Given the description of an element on the screen output the (x, y) to click on. 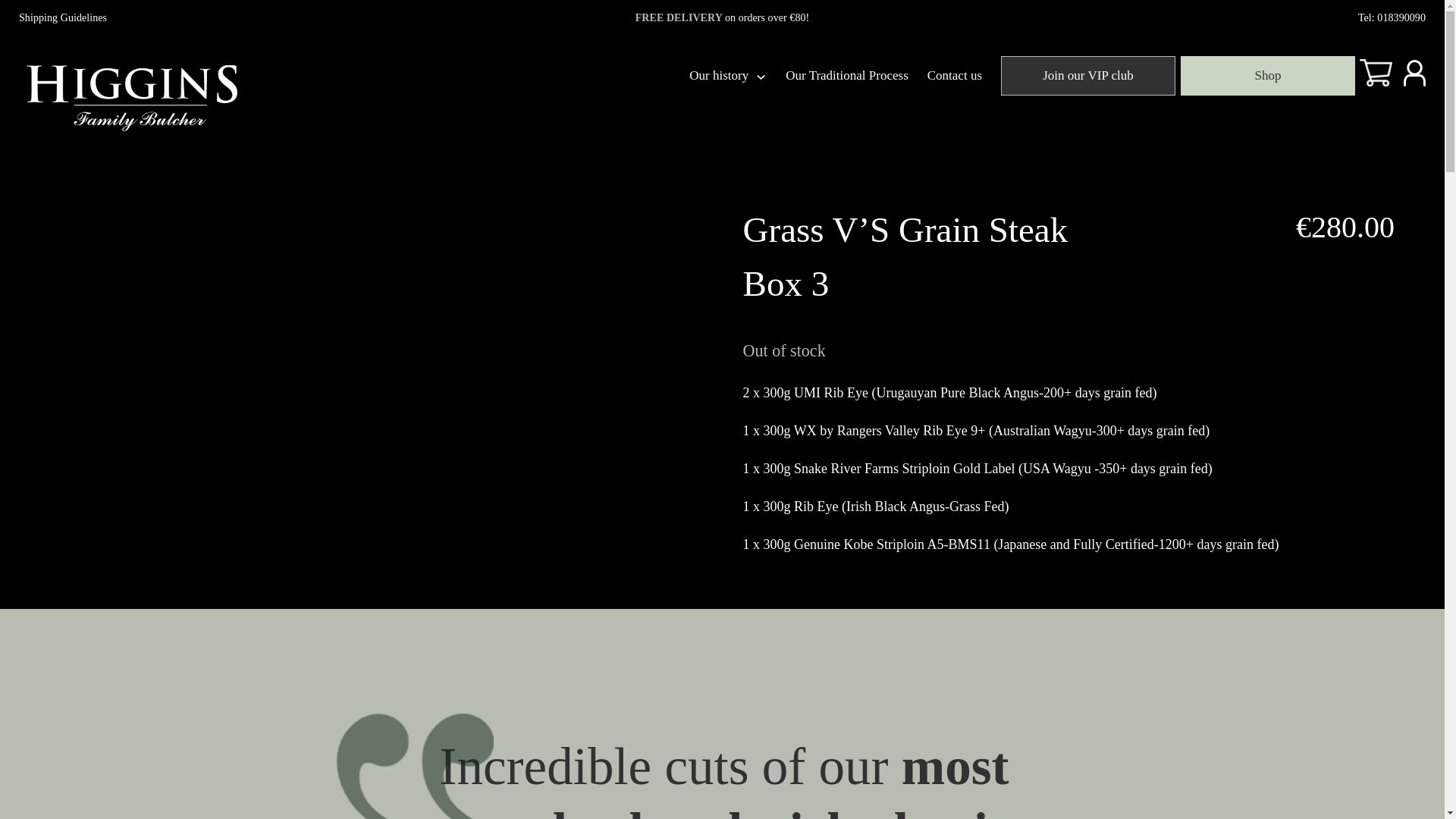
Our history (718, 74)
Shipping Guidelines (62, 17)
Tel: 018390090 (1391, 17)
Contact us (954, 74)
Shop (1267, 75)
Join our VIP club (1087, 75)
Our Traditional Process (847, 74)
